Given the description of an element on the screen output the (x, y) to click on. 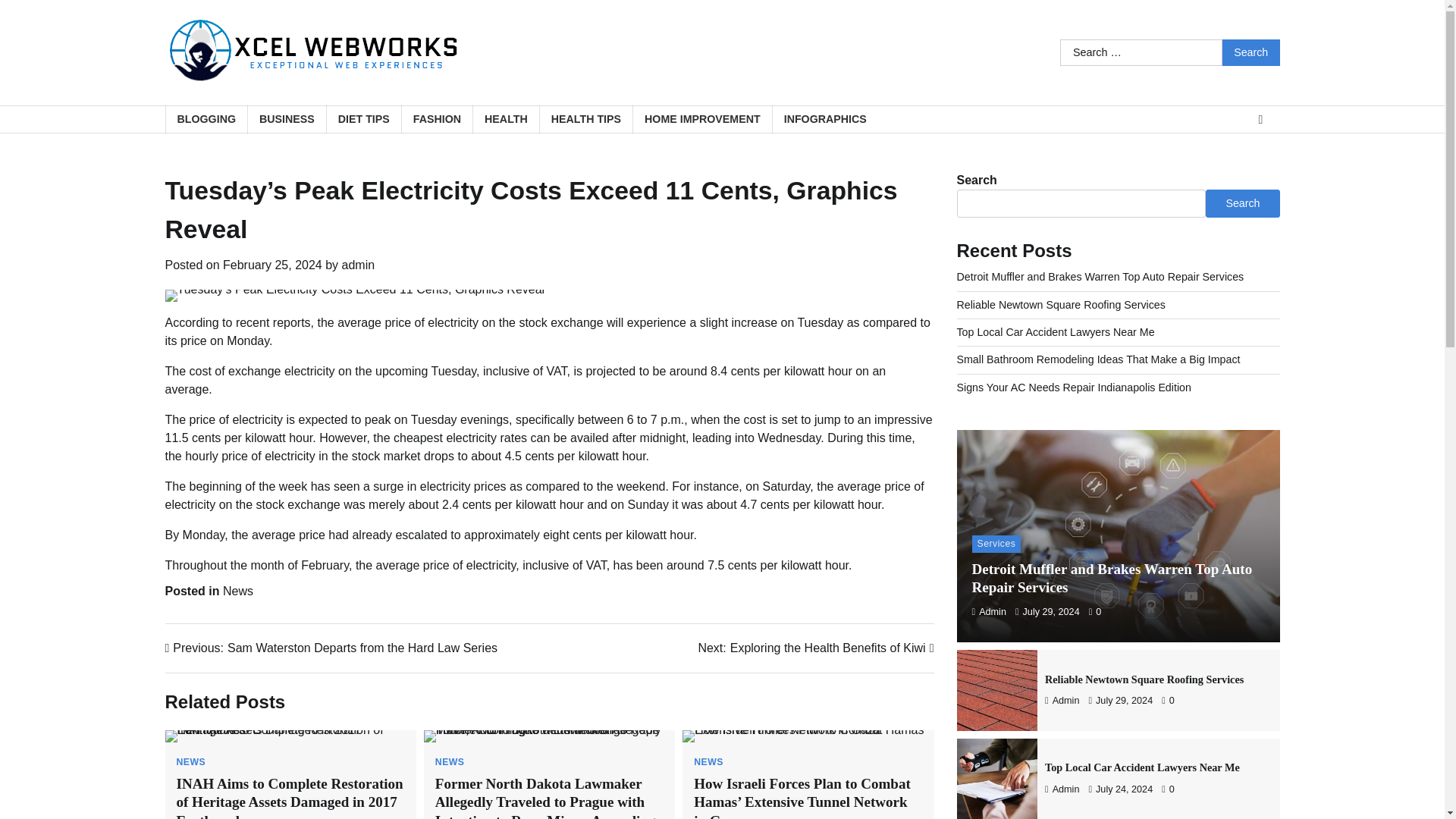
HEALTH TIPS (584, 119)
HOME IMPROVEMENT (701, 119)
NEWS (190, 761)
Search (1251, 52)
HEALTH (504, 119)
BUSINESS (286, 119)
NEWS (708, 761)
NEWS (449, 761)
FASHION (436, 119)
February 25, 2024 (271, 264)
